Given the description of an element on the screen output the (x, y) to click on. 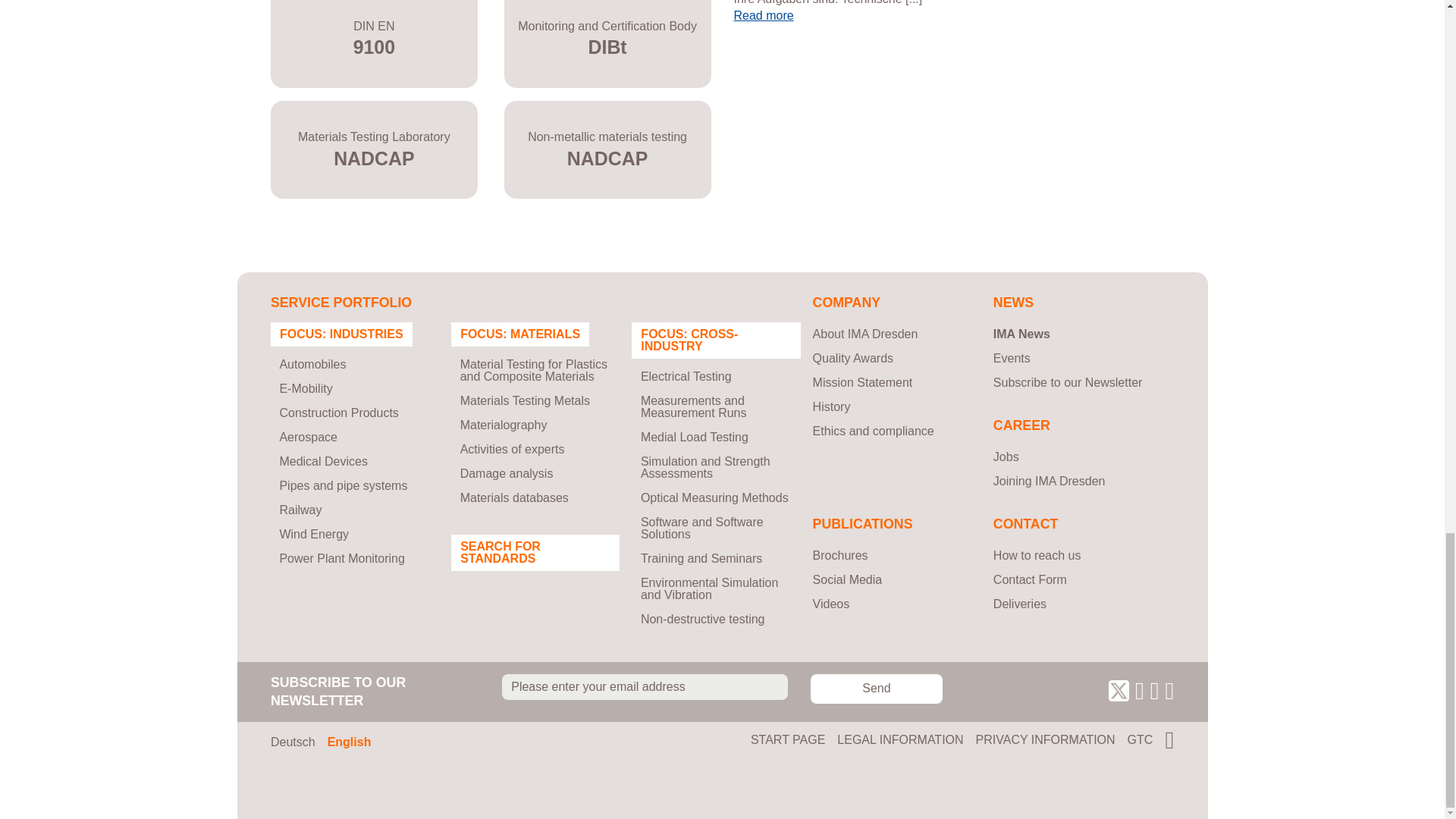
Please enter your email address (644, 687)
